Given the description of an element on the screen output the (x, y) to click on. 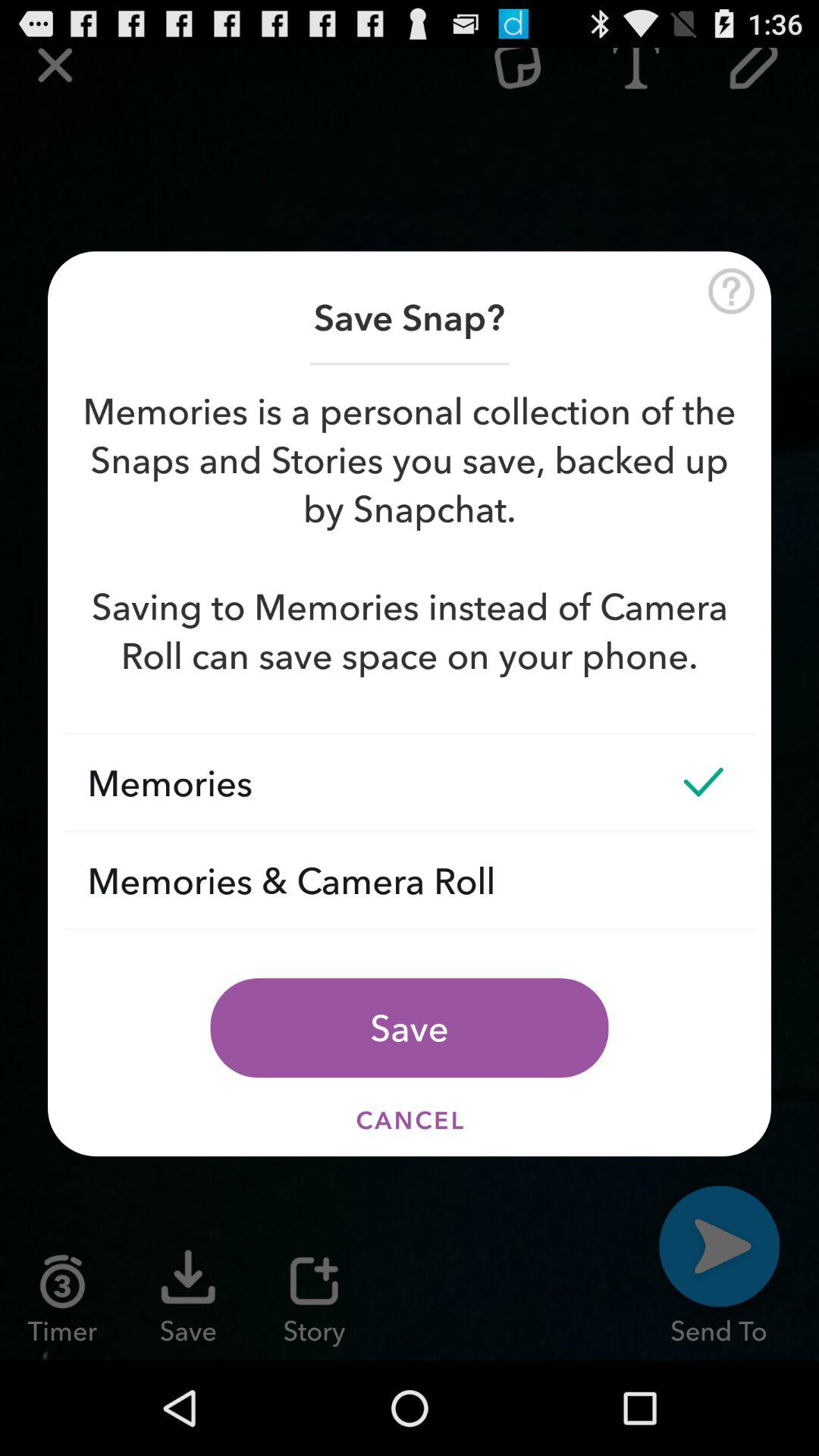
view explanation (731, 291)
